Given the description of an element on the screen output the (x, y) to click on. 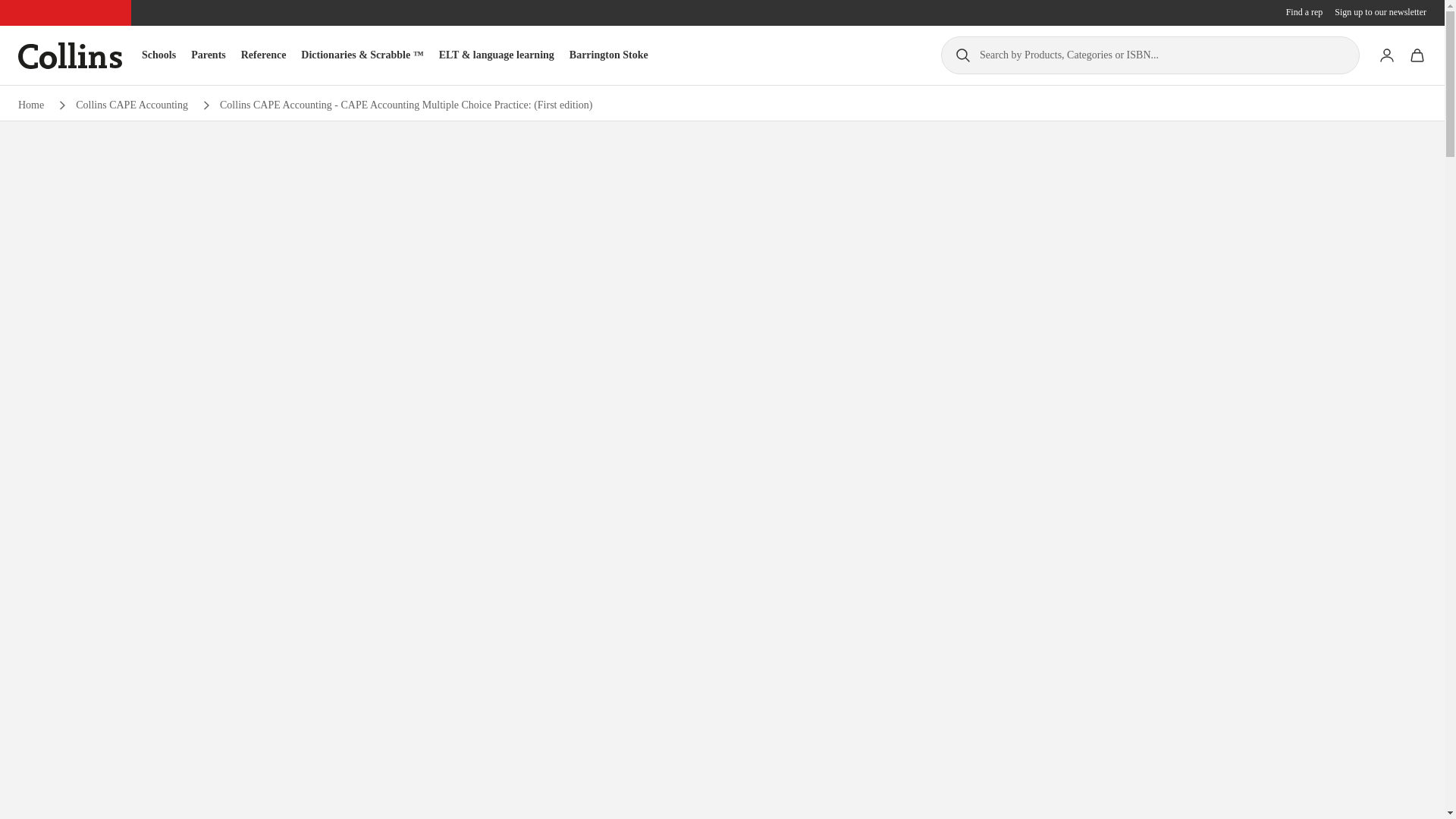
Home (30, 105)
Sign up to our newsletter (1380, 11)
Schools (158, 55)
Collins (69, 55)
Read all about Collins CAPE Accounting (131, 105)
Reference (264, 55)
Collins CAPE Accounting (131, 105)
Account (1386, 55)
Toggle cart (1417, 55)
Parents (208, 55)
